Given the description of an element on the screen output the (x, y) to click on. 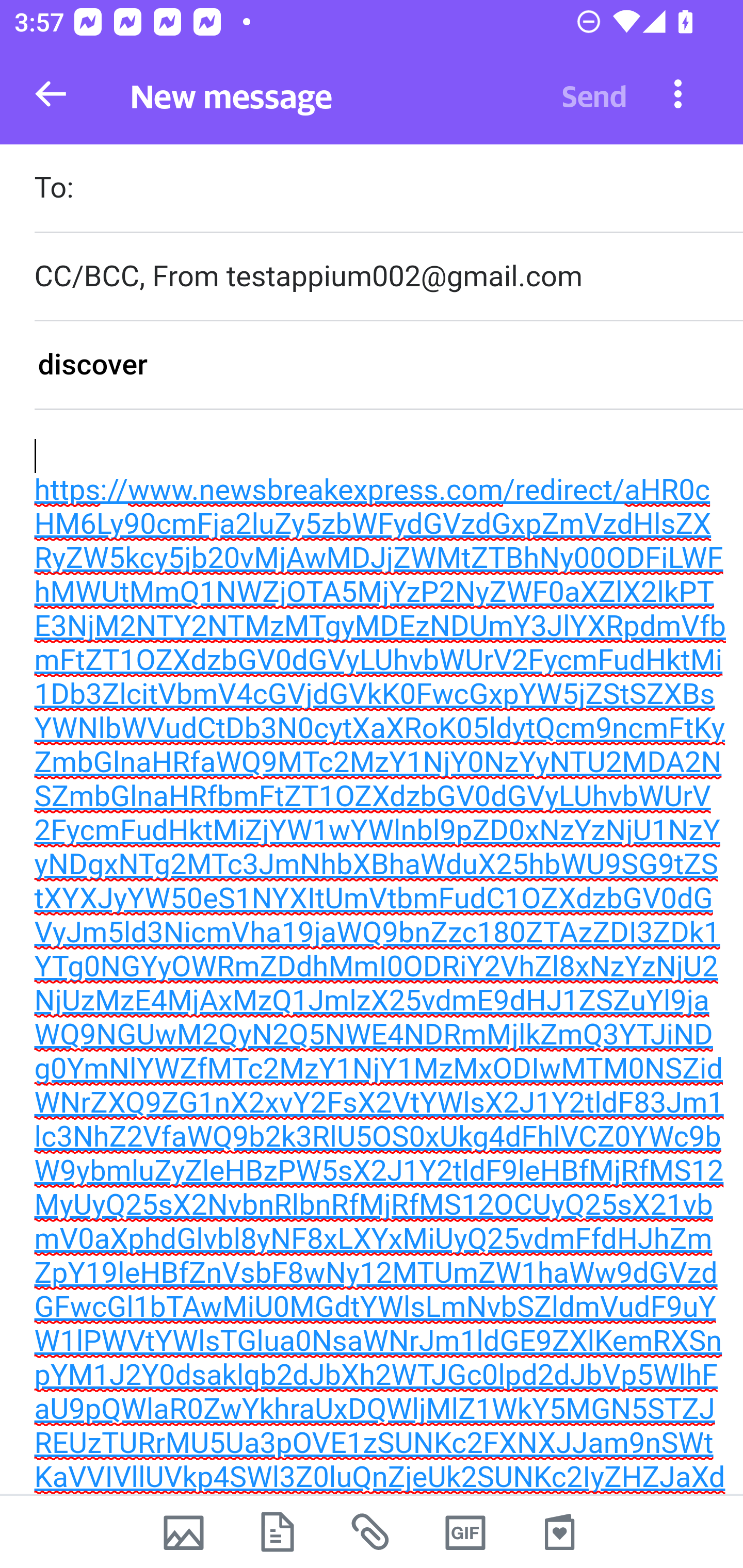
Back (50, 93)
Send (594, 93)
More options (677, 93)
To: (387, 189)
CC/BCC, From testappium002@gmail.com (387, 276)
discover (387, 364)
Camera photos (183, 1531)
Device files (277, 1531)
Recent attachments from mail (371, 1531)
GIFs (465, 1531)
Stationery (559, 1531)
